Given the description of an element on the screen output the (x, y) to click on. 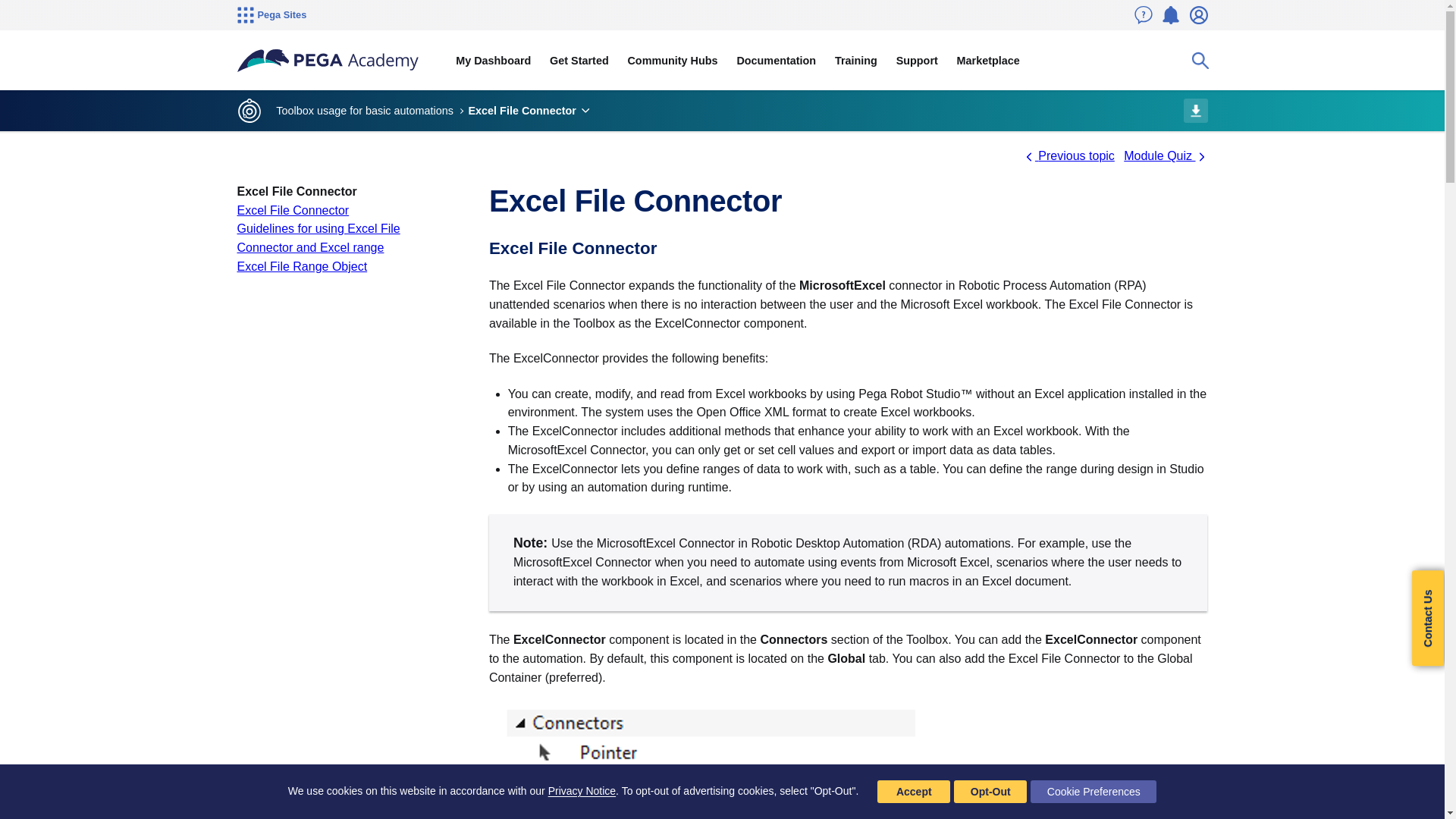
My Dashboard (493, 60)
Get Started (578, 60)
Community Hubs (671, 60)
Toggle Search Panel (1200, 60)
